Given the description of an element on the screen output the (x, y) to click on. 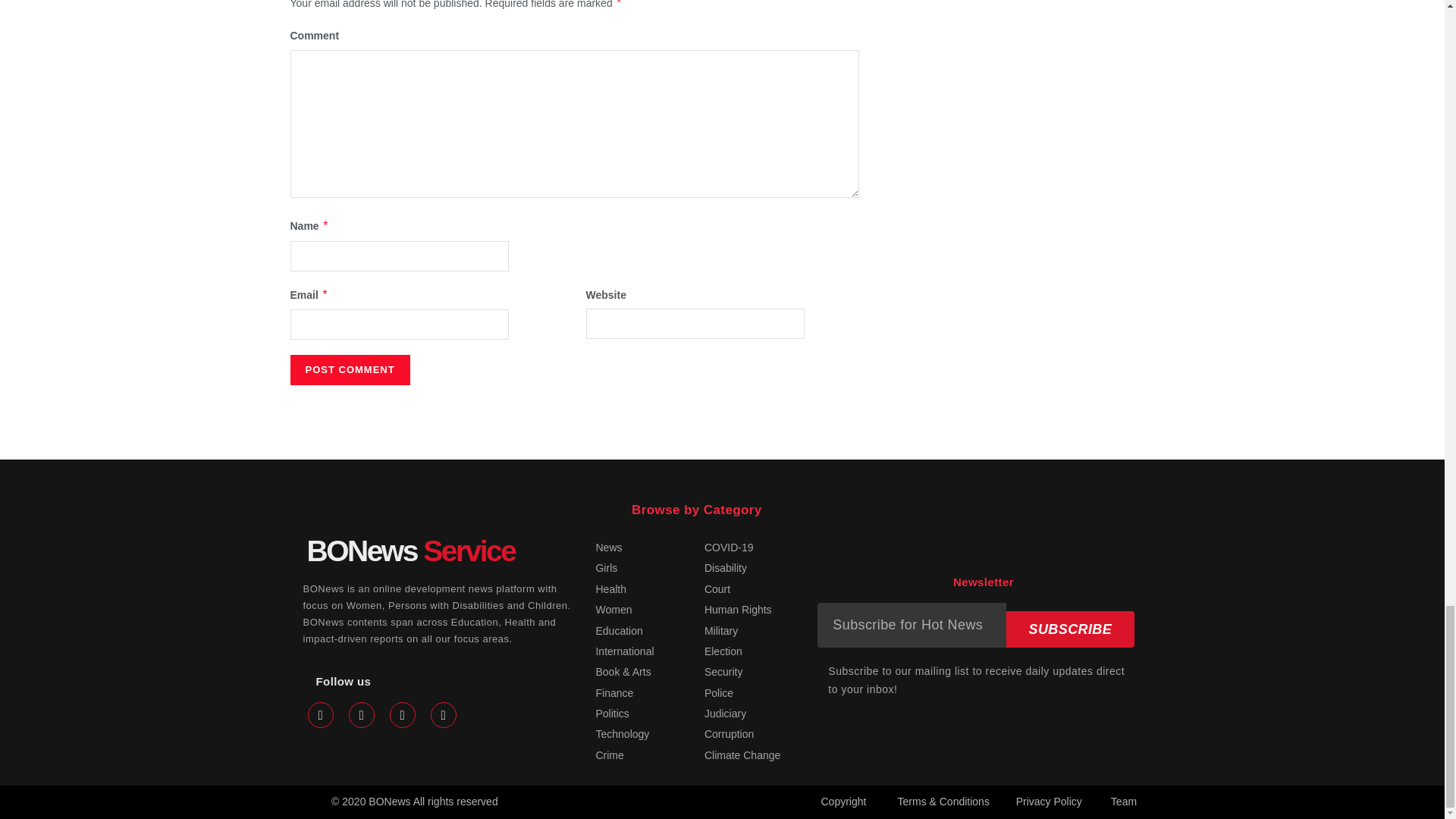
Post Comment (349, 369)
